Given the description of an element on the screen output the (x, y) to click on. 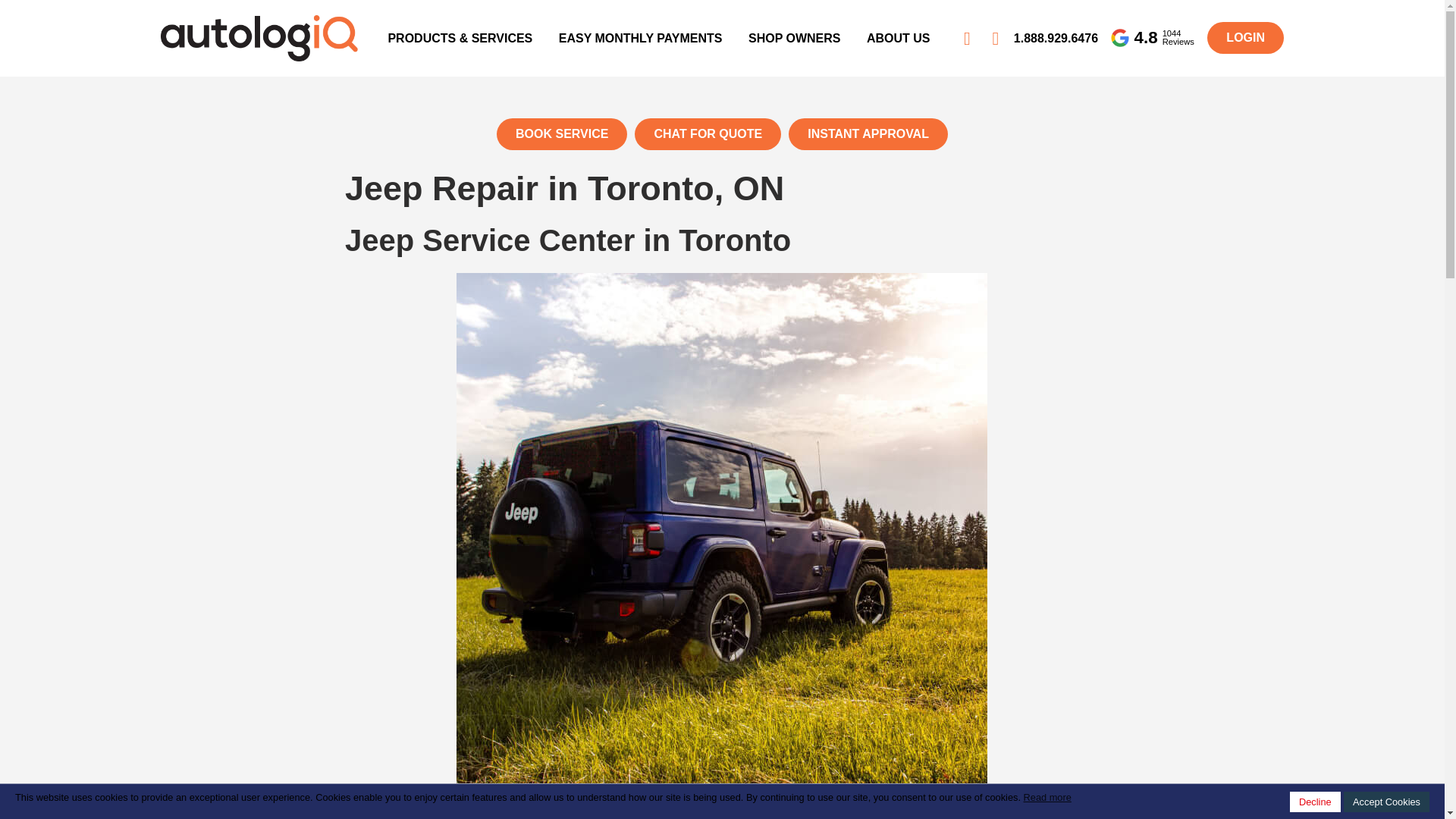
ABOUT US (899, 38)
1.888.929.6476 (1055, 38)
Decline (1315, 801)
Accept Cookies (1386, 801)
SHOP OWNERS (793, 38)
Read more (1047, 797)
EASY MONTHLY PAYMENTS (640, 38)
LOGIN (1245, 38)
autologiQ (259, 24)
